Given the description of an element on the screen output the (x, y) to click on. 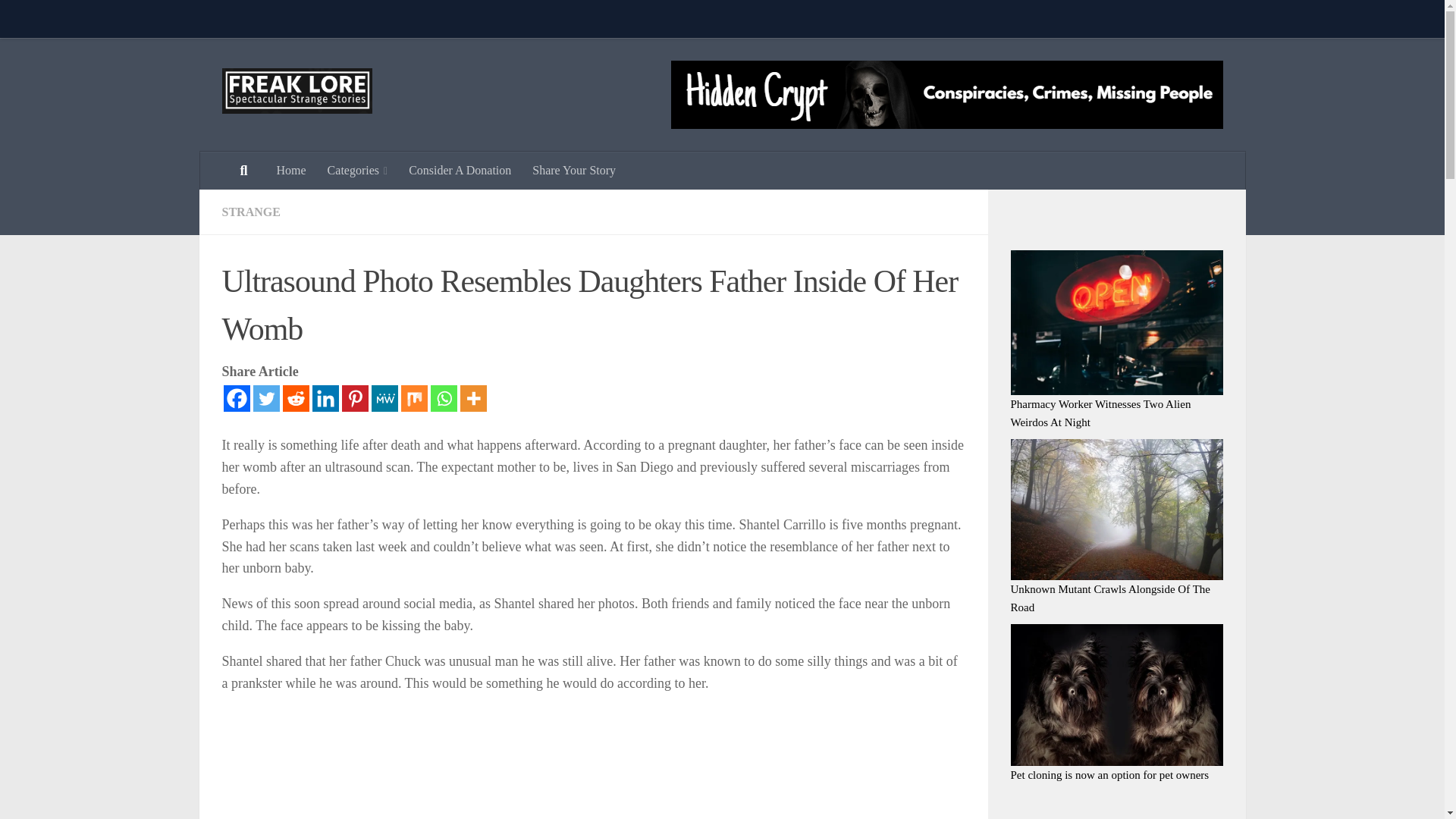
STRANGE (250, 211)
Share Your Story (573, 170)
Skip to content (59, 20)
MeWe (384, 397)
Facebook (235, 397)
Pinterest (354, 397)
Categories (357, 170)
Linkedin (326, 397)
More (473, 397)
Reddit (295, 397)
Mix (413, 397)
Consider A Donation (459, 170)
Home (289, 170)
Whatsapp (443, 397)
Twitter (266, 397)
